Given the description of an element on the screen output the (x, y) to click on. 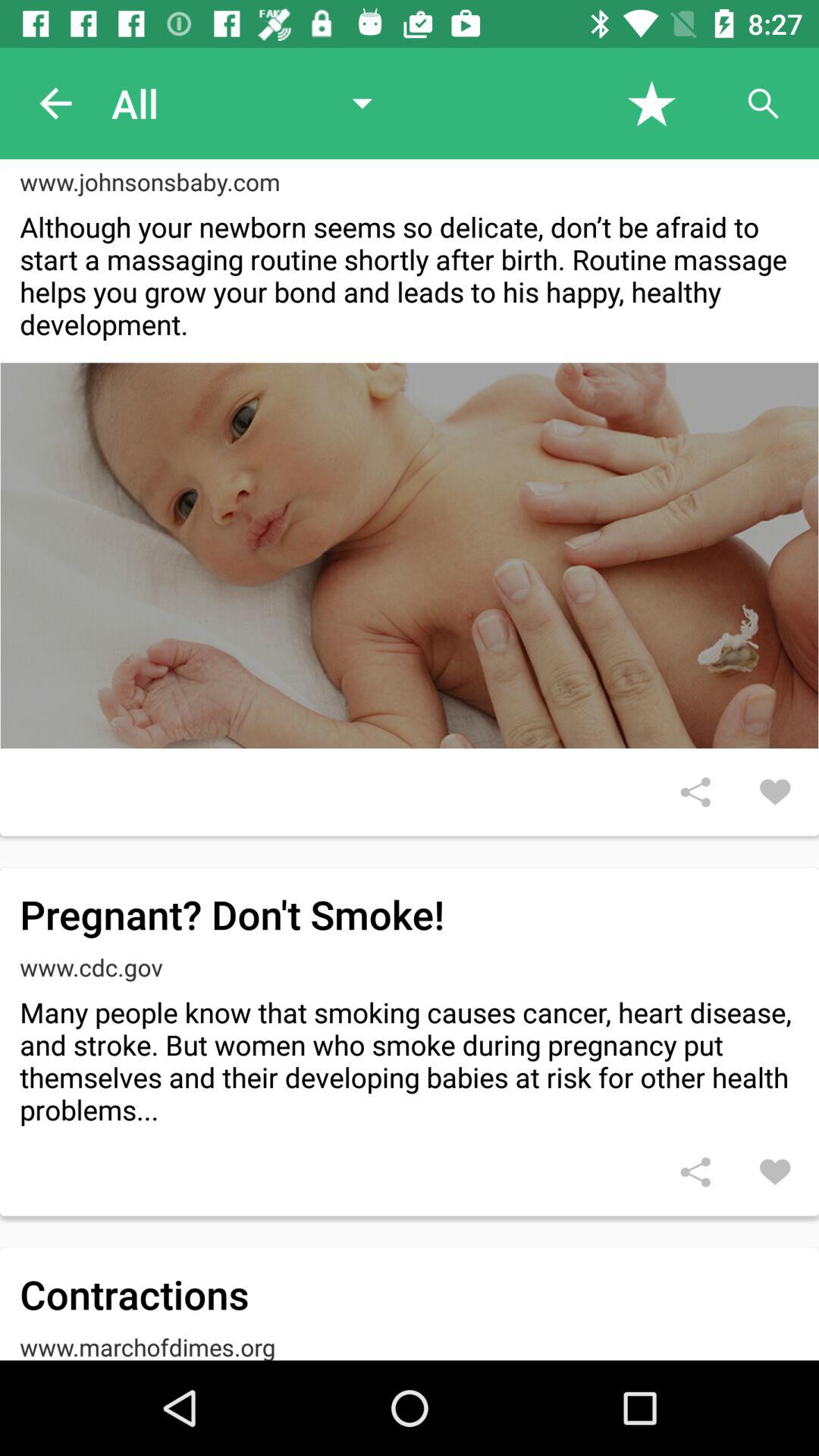
toggle autoplay option (763, 103)
